Given the description of an element on the screen output the (x, y) to click on. 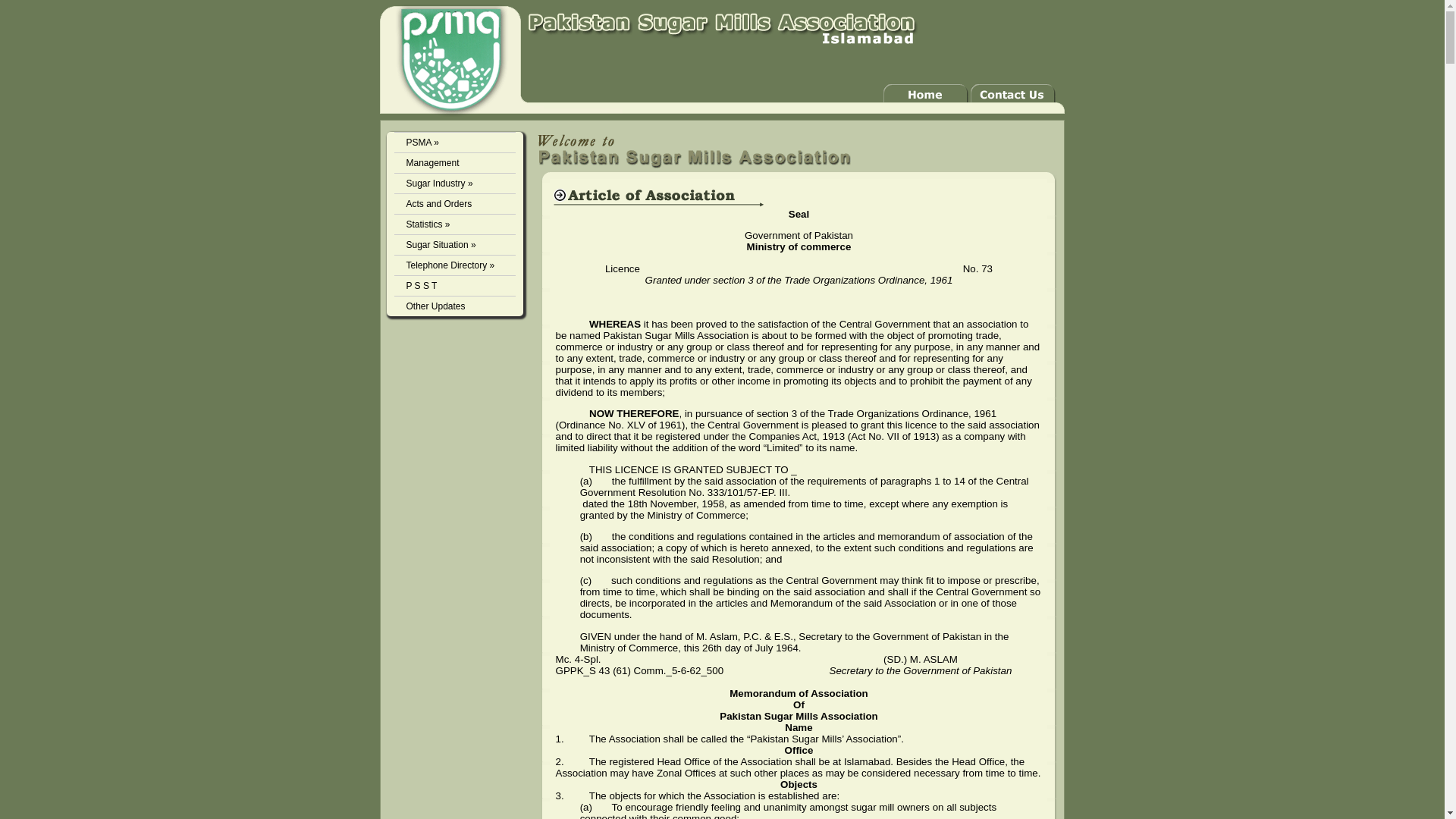
P S S T (454, 285)
Management (454, 162)
Acts and Orders (454, 203)
Other Updates (454, 305)
